Given the description of an element on the screen output the (x, y) to click on. 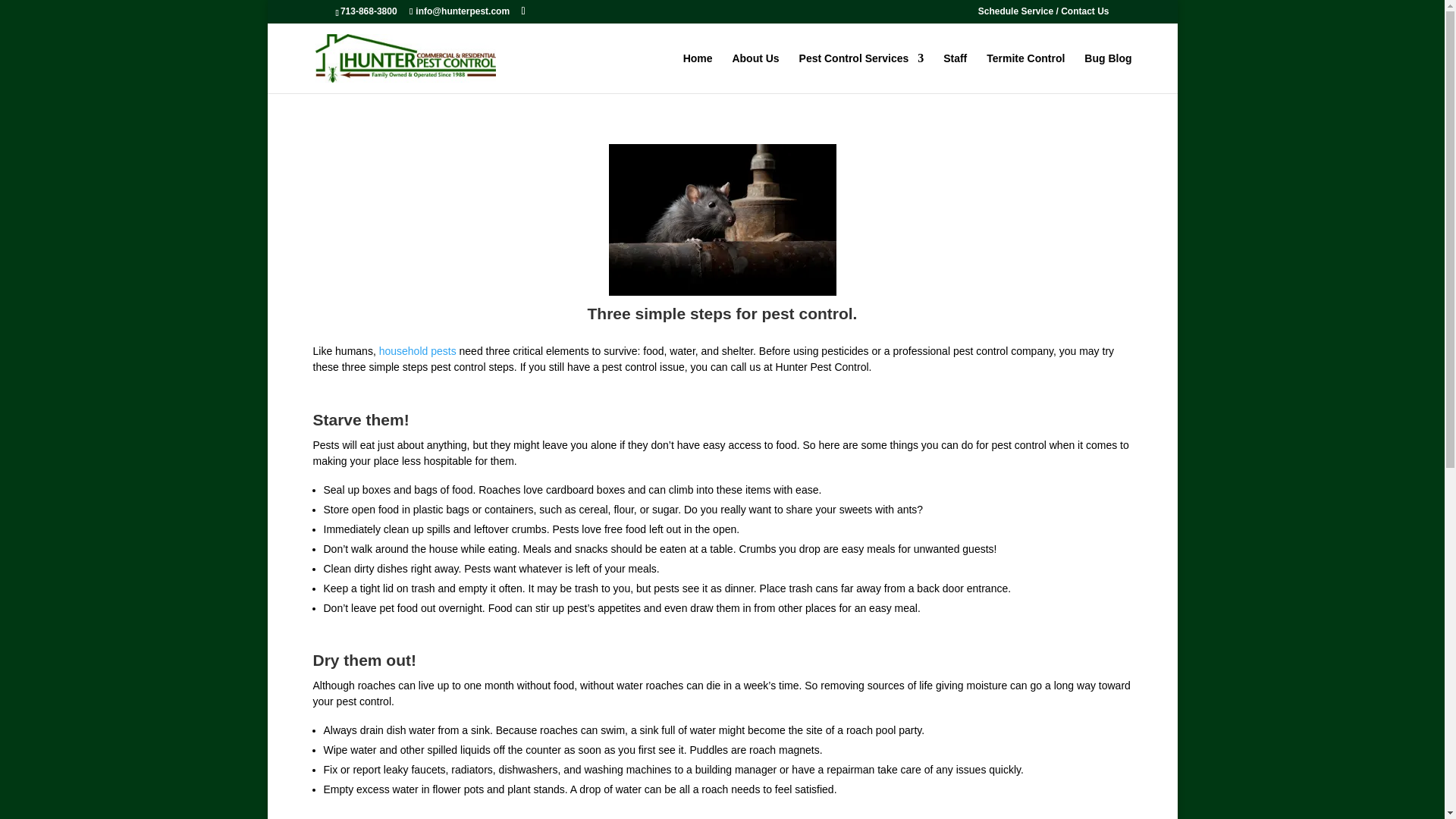
Staff (954, 73)
Bug Blog (1107, 73)
Home (697, 73)
Termite Control (1025, 73)
About Us (755, 73)
Pest Control Services (861, 73)
household pests (417, 350)
